Given the description of an element on the screen output the (x, y) to click on. 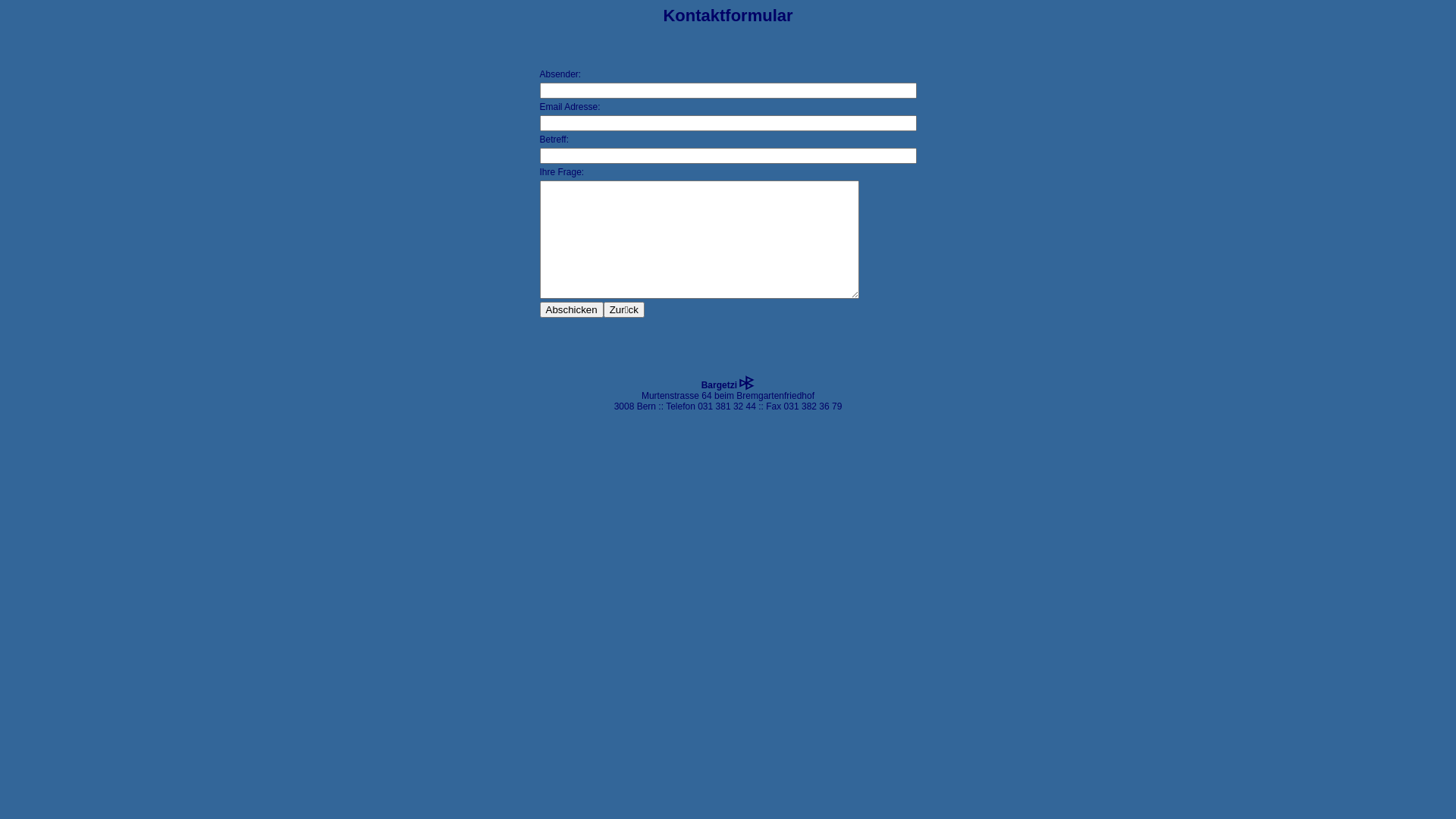
Abschicken Element type: text (571, 309)
